Given the description of an element on the screen output the (x, y) to click on. 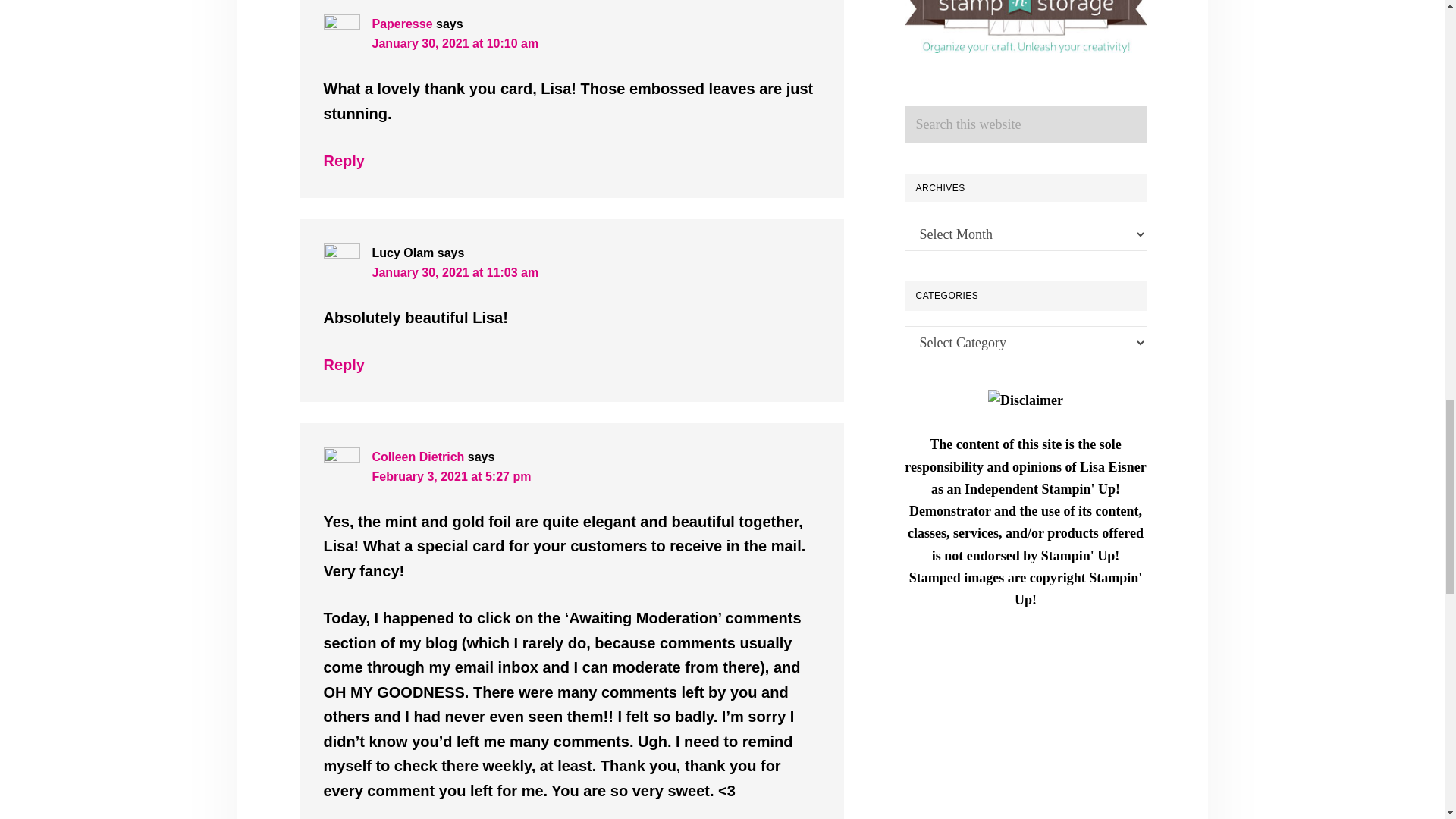
Reply (343, 364)
February 3, 2021 at 5:27 pm (451, 476)
Paperesse (401, 23)
January 30, 2021 at 11:03 am (454, 272)
January 30, 2021 at 10:10 am (454, 42)
Reply (343, 160)
Colleen Dietrich (417, 456)
